Given the description of an element on the screen output the (x, y) to click on. 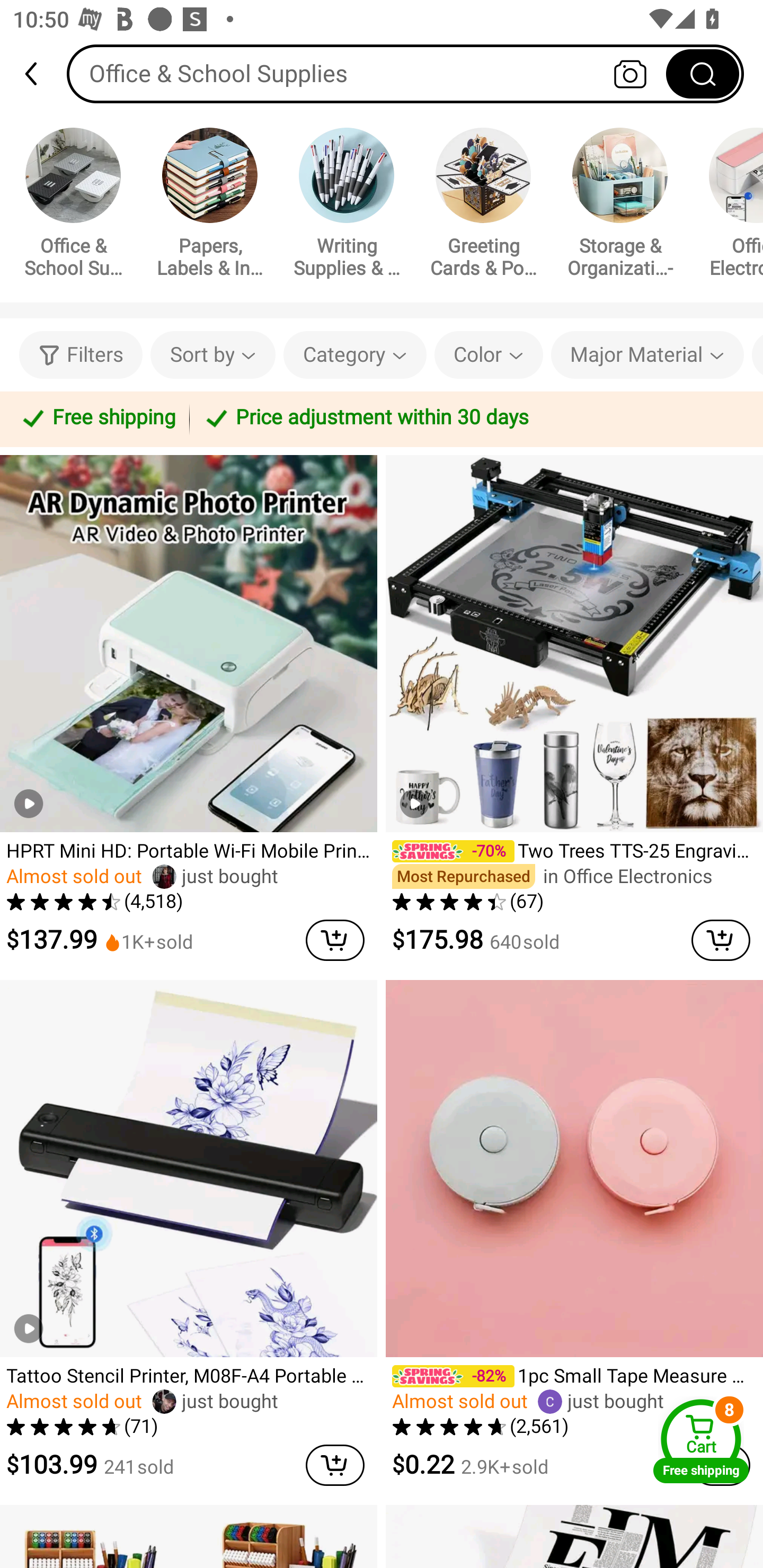
back (39, 73)
Office & School Supplies (405, 73)
Office & School Supplies (73, 205)
Papers, Labels & Indexes (209, 205)
Writing Supplies & Correction Supplies (346, 205)
Greeting Cards & Postcards (483, 205)
Storage & Organization (619, 205)
Office Electronics (728, 205)
Filters (80, 354)
Sort by (212, 354)
Category (354, 354)
Color (488, 354)
Major Material (646, 354)
Free shipping (97, 418)
Price adjustment within 30 days (472, 418)
cart delete (334, 939)
cart delete (720, 939)
Cart Free shipping Cart (701, 1440)
cart delete (334, 1465)
